Given the description of an element on the screen output the (x, y) to click on. 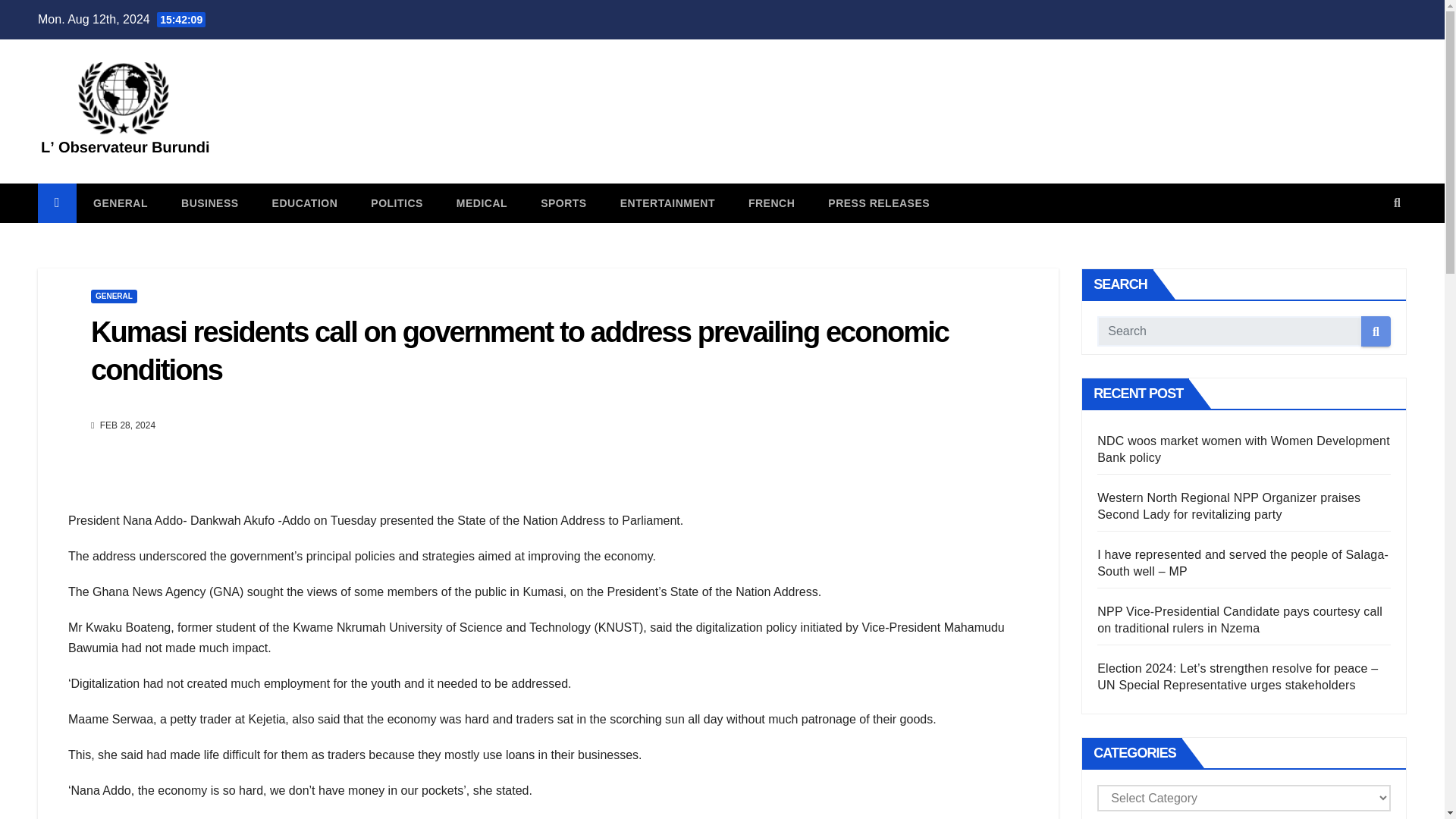
ENTERTAINMENT (668, 202)
BUSINESS (210, 202)
FRENCH (771, 202)
Entertainment (668, 202)
Business (210, 202)
GENERAL (120, 202)
MEDICAL (481, 202)
EDUCATION (305, 202)
French (771, 202)
